Given the description of an element on the screen output the (x, y) to click on. 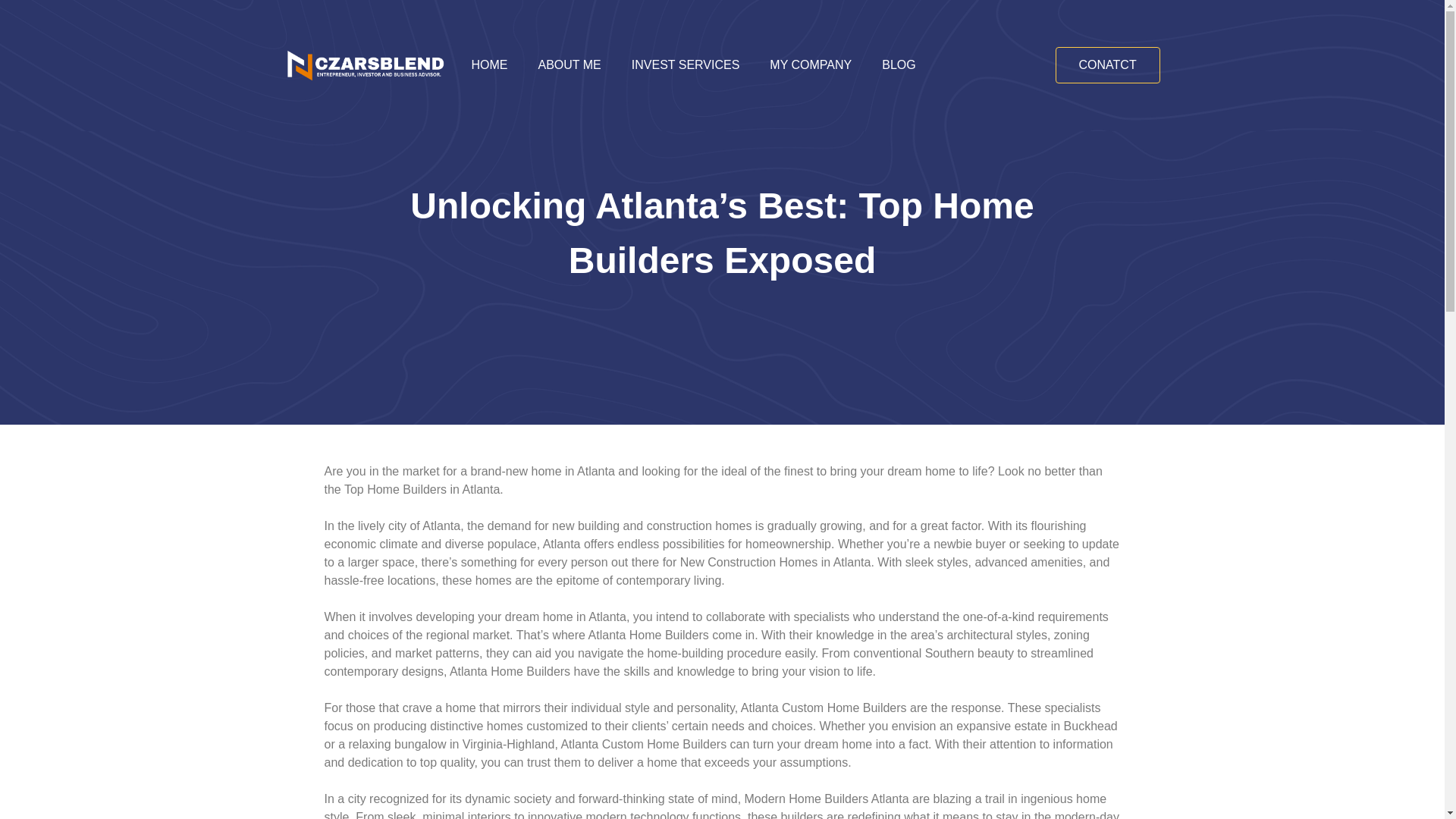
MY COMPANY (810, 64)
INVEST SERVICES (685, 64)
ABOUT ME (568, 64)
BLOG (898, 64)
HOME (489, 64)
CONATCT (1107, 64)
